Given the description of an element on the screen output the (x, y) to click on. 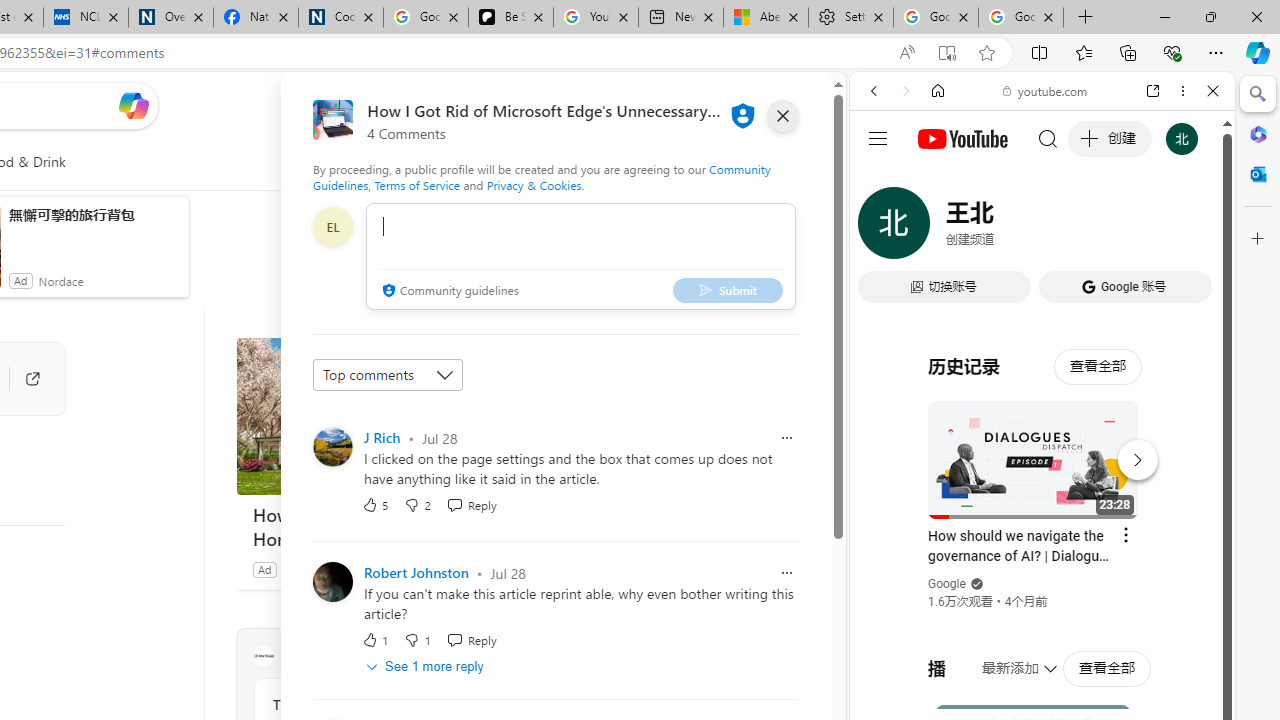
Collections (1128, 52)
#you (1042, 445)
Split screen (1039, 52)
comment-box (581, 256)
#you (1042, 445)
Copilot (Ctrl+Shift+.) (1258, 52)
Close (1213, 91)
Open Copilot (132, 105)
Web scope (882, 180)
Forward (906, 91)
How To Borrow From Your Home Without Touching Your Mortgage (386, 526)
Search (1258, 94)
Home (938, 91)
